Given the description of an element on the screen output the (x, y) to click on. 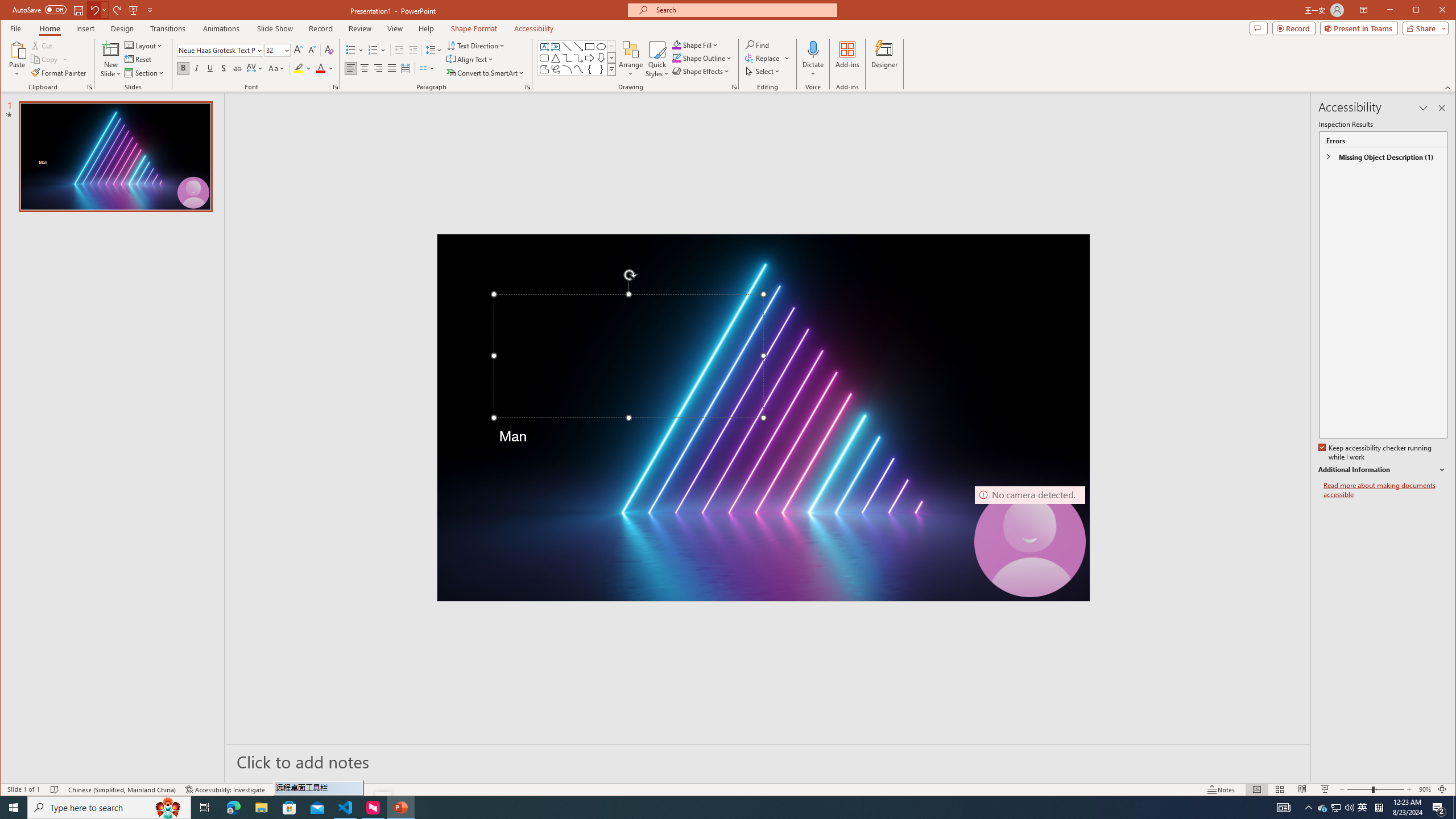
Arc (567, 69)
Bullets (350, 49)
Q2790: 100% (1349, 807)
Arrange (631, 59)
Font Color (324, 68)
Center (364, 68)
Open (285, 50)
Text Highlight Color (302, 68)
Distributed (405, 68)
Right Brace (601, 69)
